Given the description of an element on the screen output the (x, y) to click on. 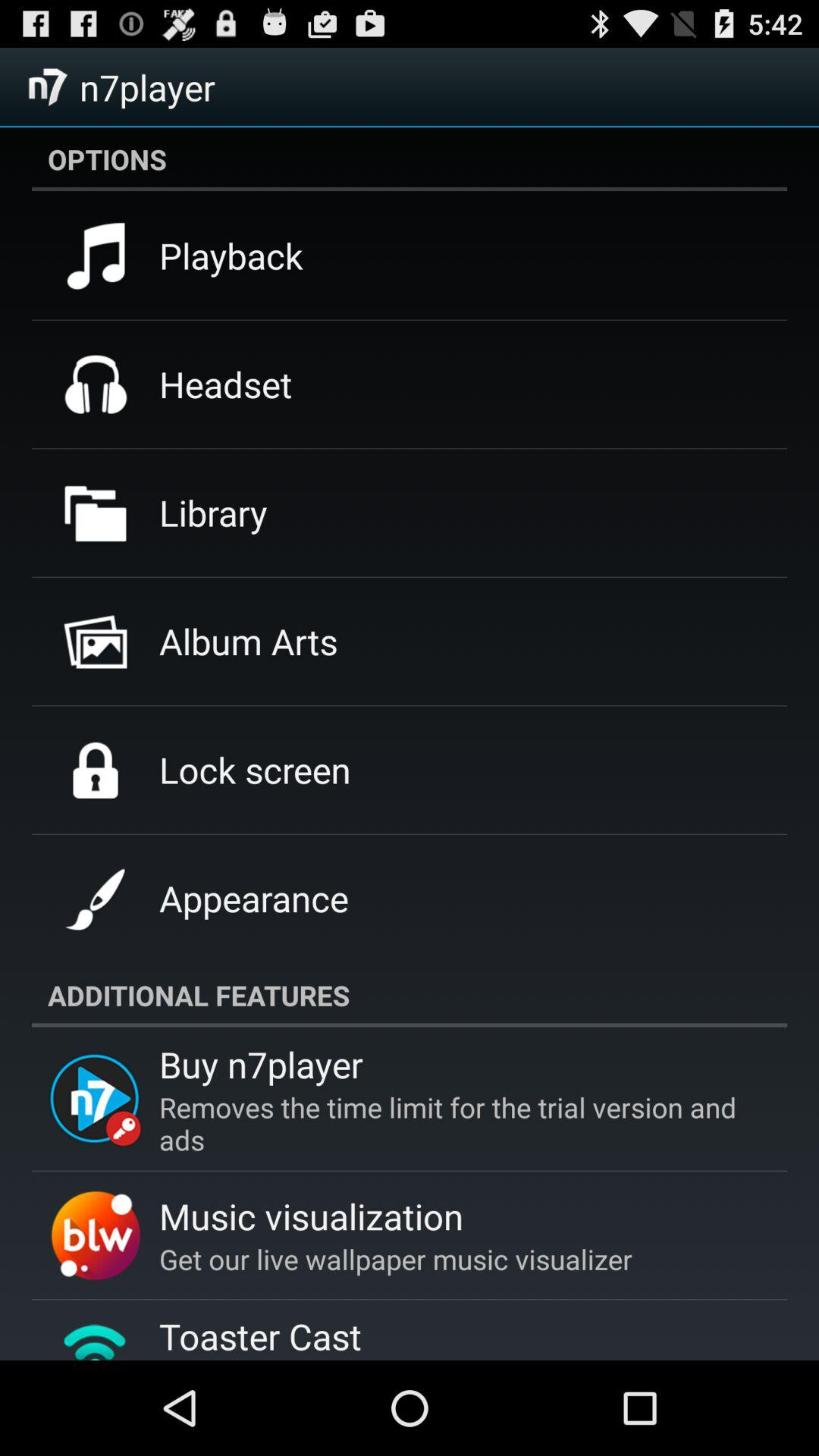
turn off options (409, 159)
